Given the description of an element on the screen output the (x, y) to click on. 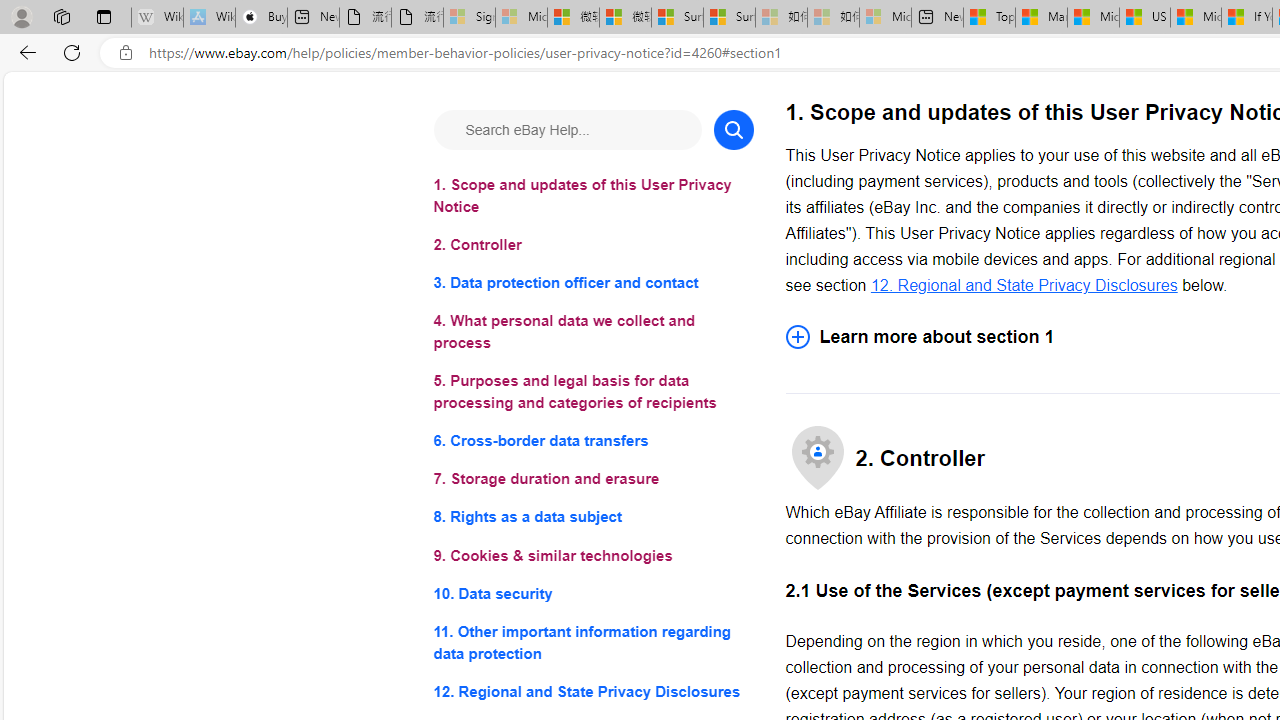
4. What personal data we collect and process (592, 332)
Top Stories - MSN (989, 17)
2. Controller (592, 245)
US Heat Deaths Soared To Record High Last Year (1144, 17)
4. What personal data we collect and process (592, 332)
8. Rights as a data subject (592, 517)
Sign in to your Microsoft account - Sleeping (469, 17)
Microsoft Services Agreement - Sleeping (520, 17)
Microsoft account | Account Checkup - Sleeping (885, 17)
Search eBay Help... (566, 129)
6. Cross-border data transfers (592, 440)
